Given the description of an element on the screen output the (x, y) to click on. 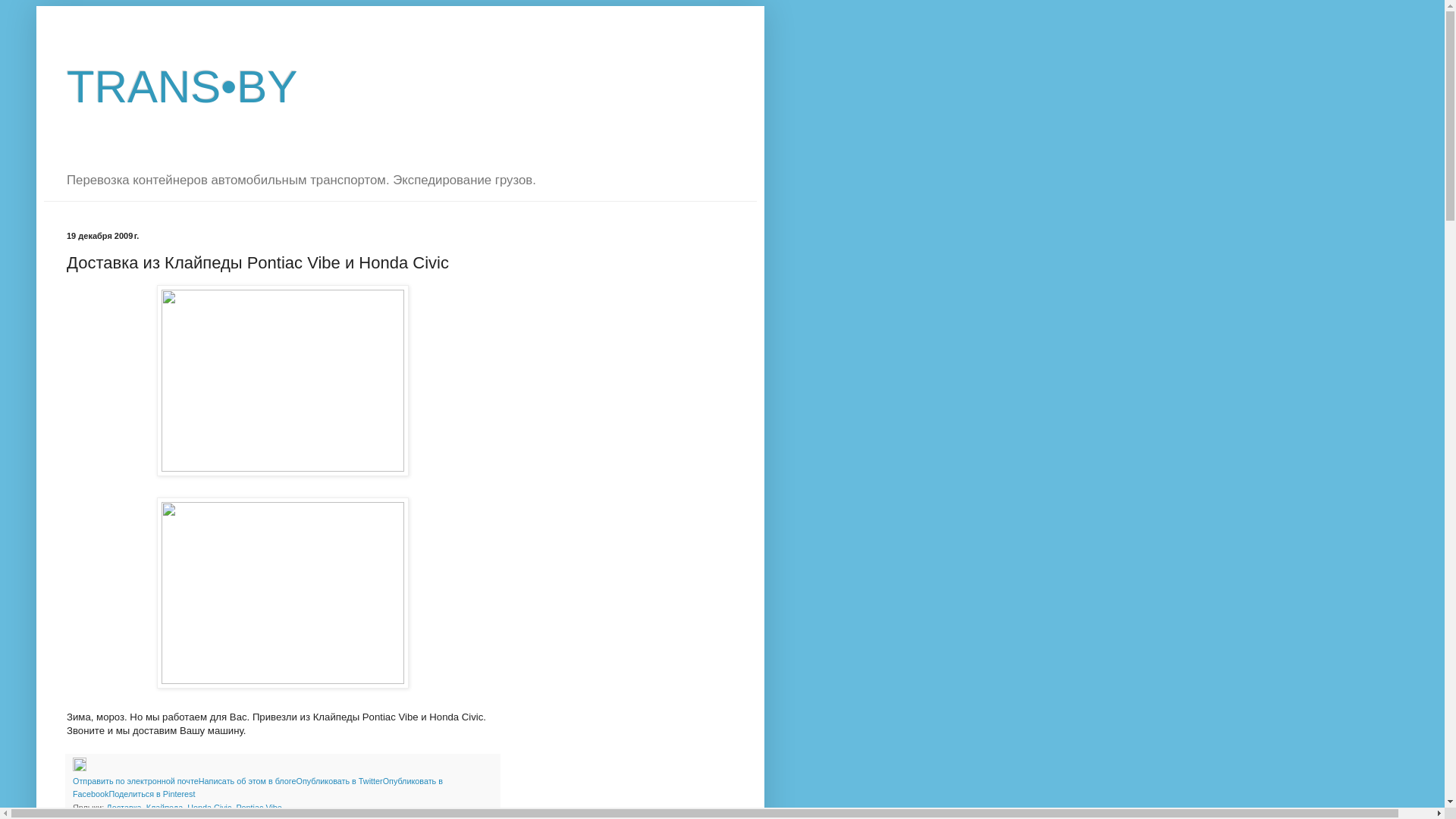
Honda Civic Element type: text (209, 807)
Pontiac Vibe Element type: text (258, 807)
